Given the description of an element on the screen output the (x, y) to click on. 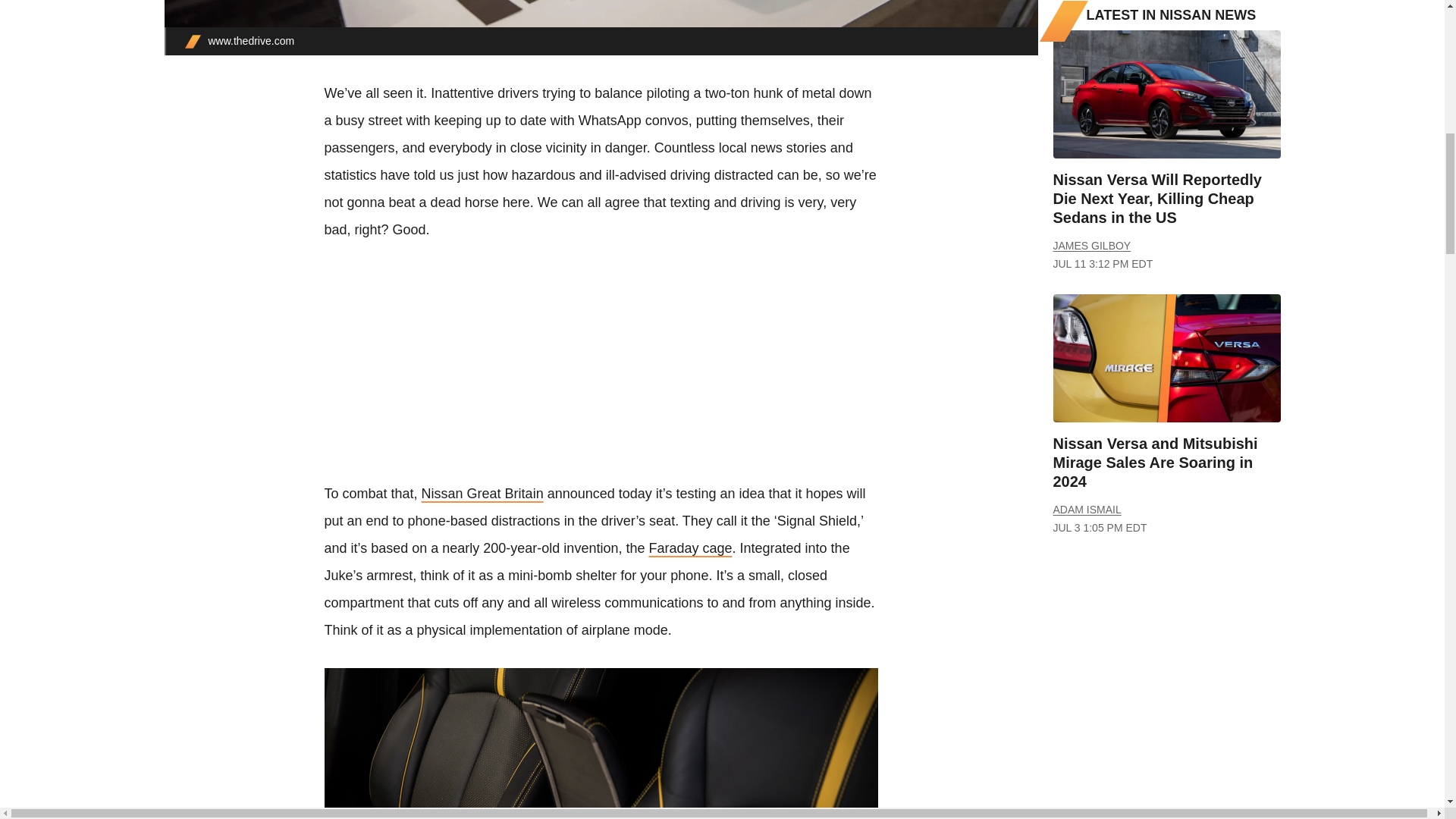
3rd party ad content (600, 373)
3rd party ad content (1165, 686)
